Given the description of an element on the screen output the (x, y) to click on. 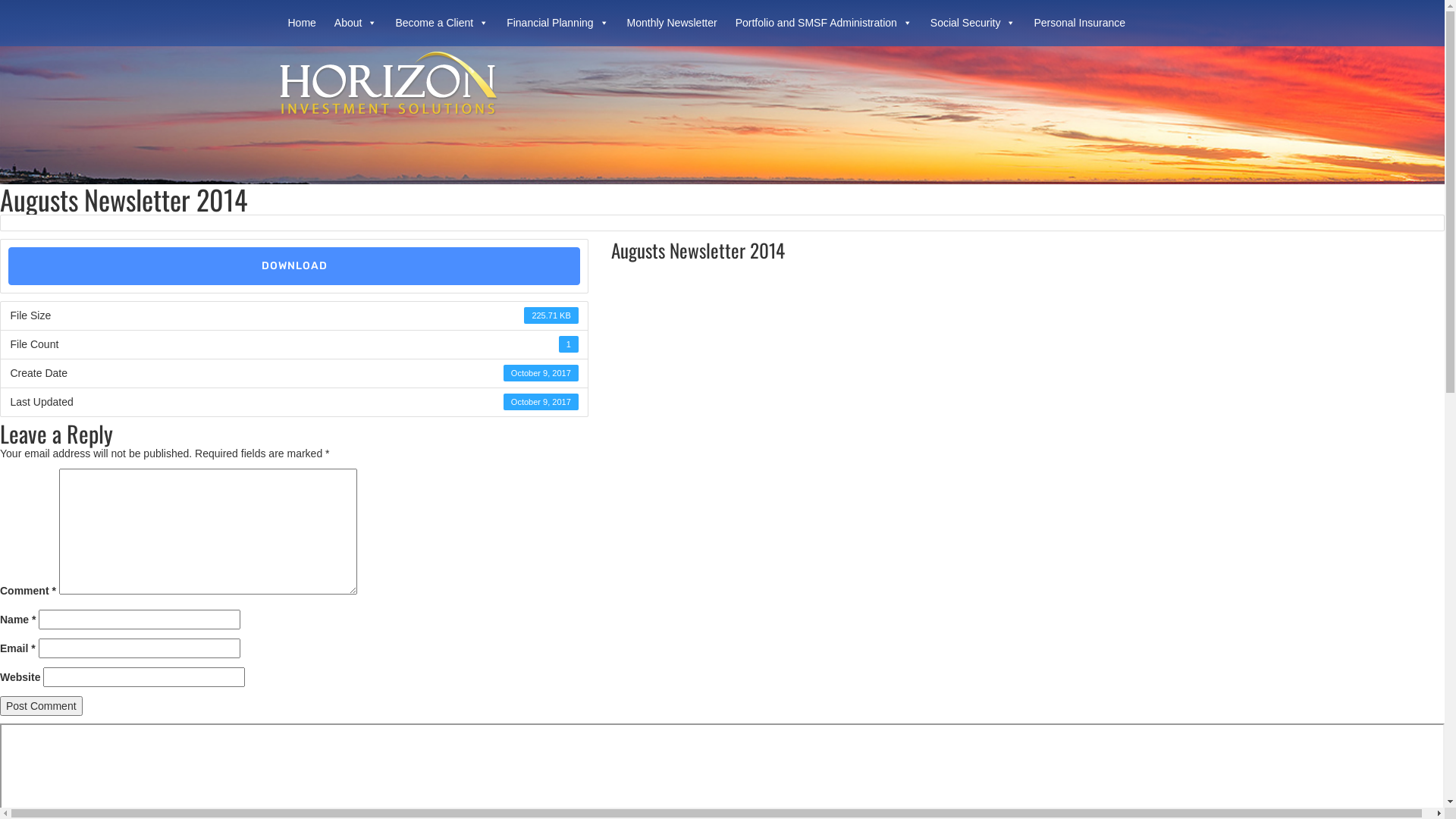
About Element type: text (355, 23)
Post Comment Element type: text (41, 705)
Home Element type: text (302, 23)
Personal Insurance Element type: text (1079, 23)
Portfolio and SMSF Administration Element type: text (823, 23)
Become a Client Element type: text (441, 23)
DOWNLOAD Element type: text (294, 266)
Monthly Newsletter Element type: text (672, 23)
Financial Planning Element type: text (557, 23)
Social Security Element type: text (973, 23)
